Given the description of an element on the screen output the (x, y) to click on. 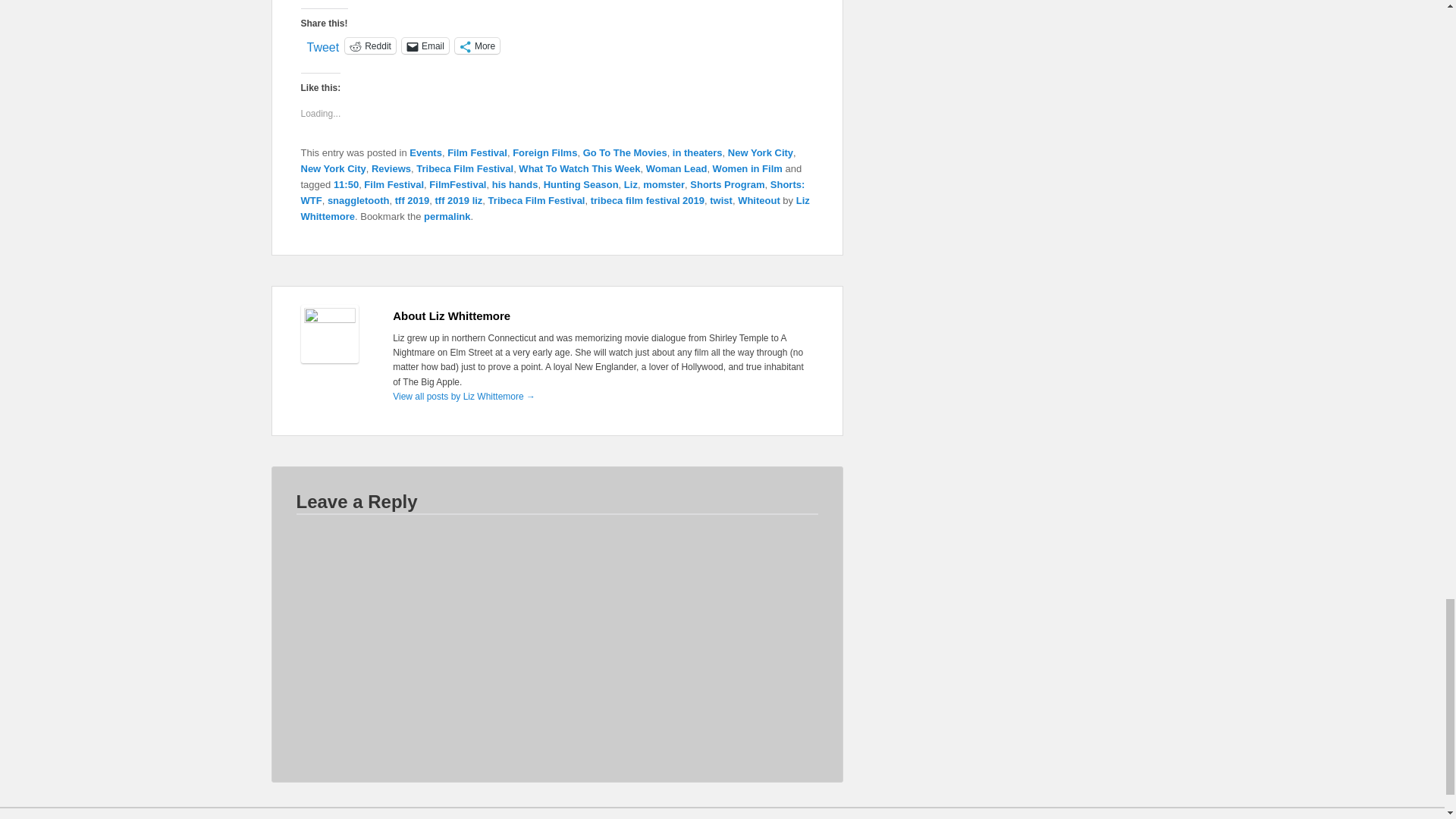
Click to share on Reddit (370, 45)
Reddit (370, 45)
Click to email a link to a friend (424, 45)
More (476, 45)
Email (424, 45)
Tweet (322, 44)
